Given the description of an element on the screen output the (x, y) to click on. 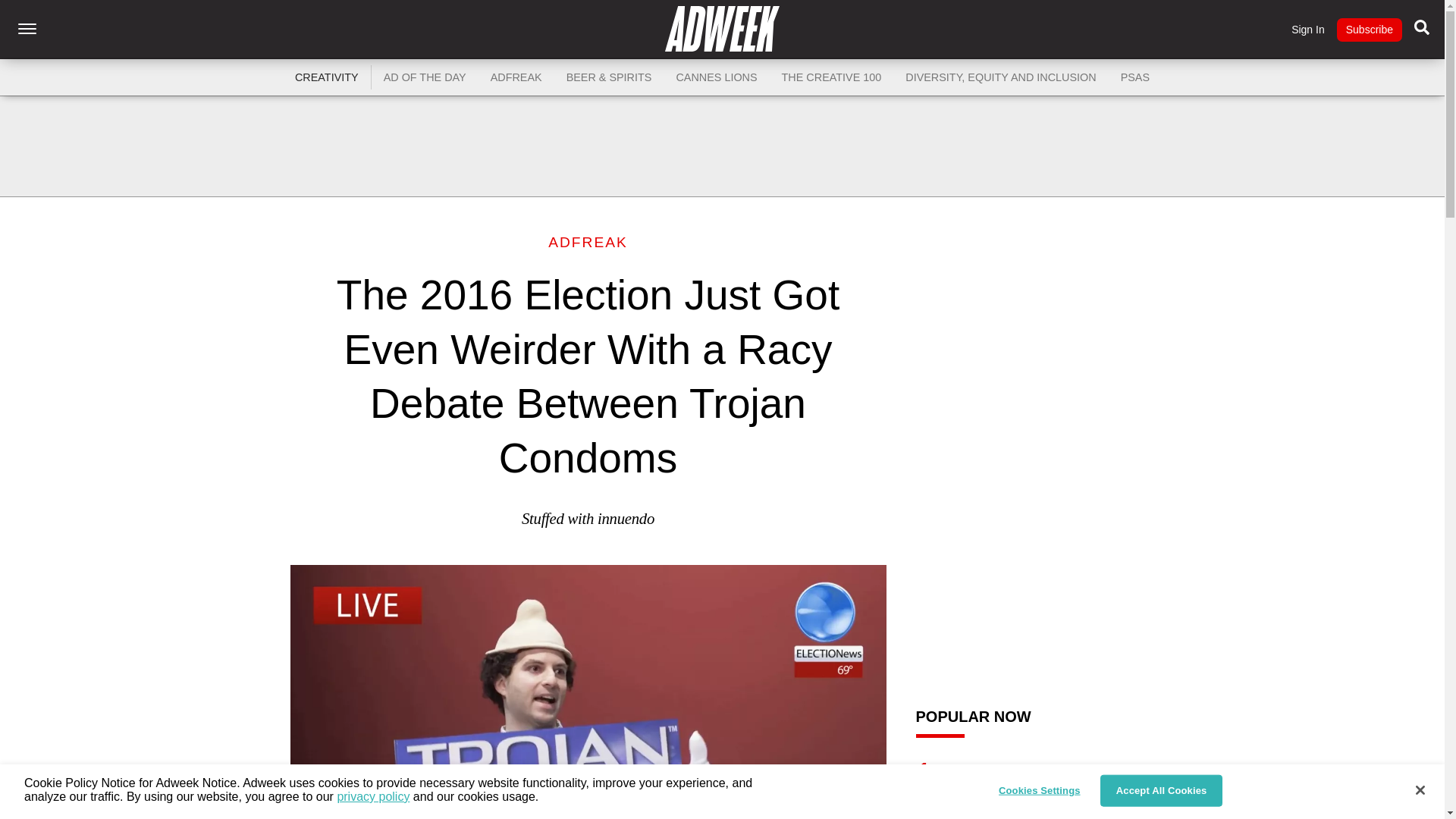
ADFREAK (516, 77)
ADFREAK (587, 242)
CANNES LIONS (715, 77)
DIVERSITY, EQUITY AND INCLUSION (1000, 77)
THE CREATIVE 100 (831, 77)
PSAS (1134, 77)
Sign In (1307, 29)
CREATIVITY (326, 77)
Subscribe (1369, 29)
Toggle Main Menu (26, 28)
AD OF THE DAY (425, 77)
